Given the description of an element on the screen output the (x, y) to click on. 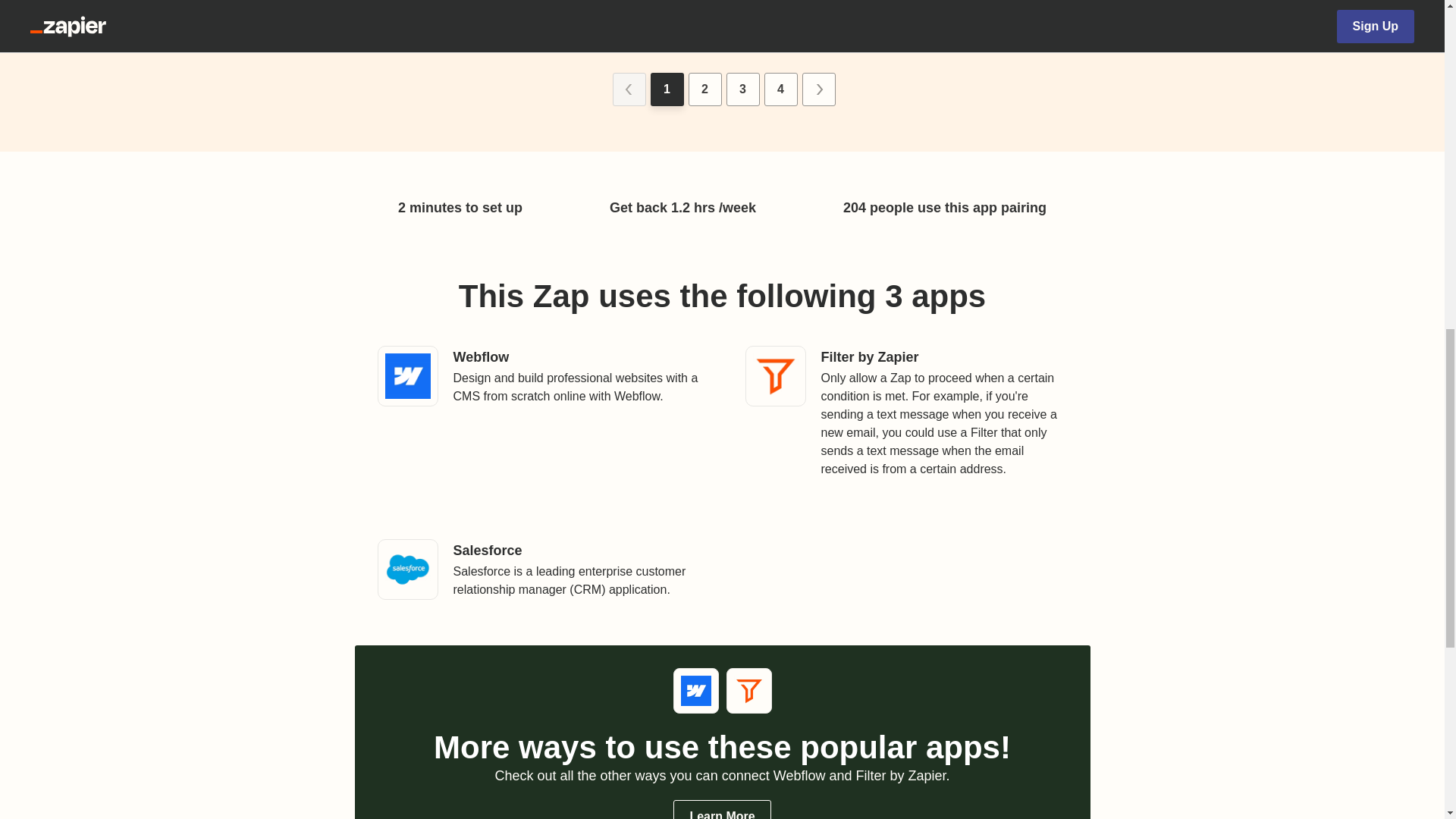
2 (705, 89)
Learn More (721, 809)
Learn More (300, 23)
Learn More (862, 13)
